Given the description of an element on the screen output the (x, y) to click on. 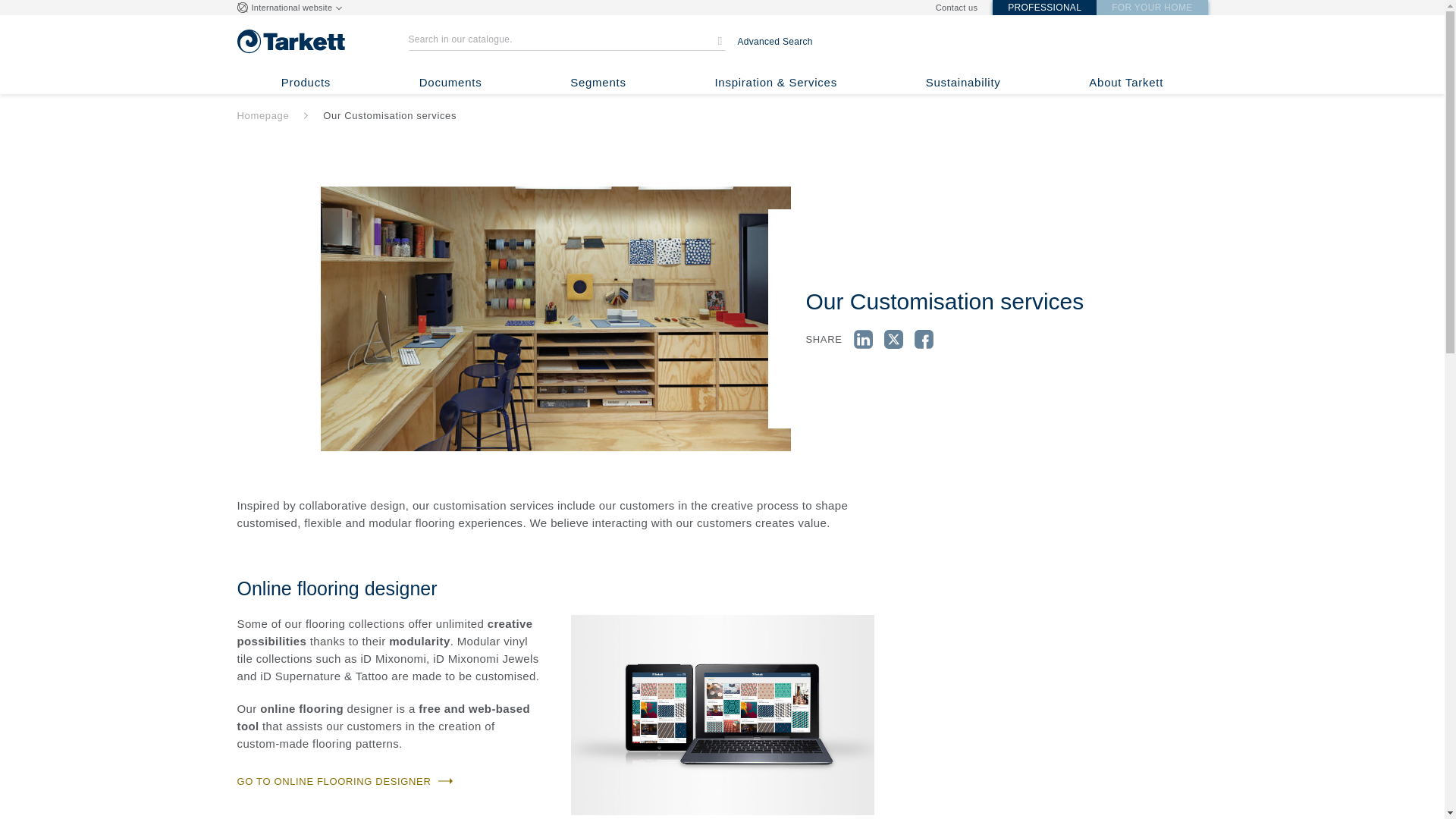
GO TO ONLINE FLOORING DESIGNER (343, 780)
PROFESSIONAL (1044, 7)
Homepage (261, 115)
Advanced Search (774, 41)
FOR YOUR HOME (1151, 7)
Contact us (956, 7)
